Given the description of an element on the screen output the (x, y) to click on. 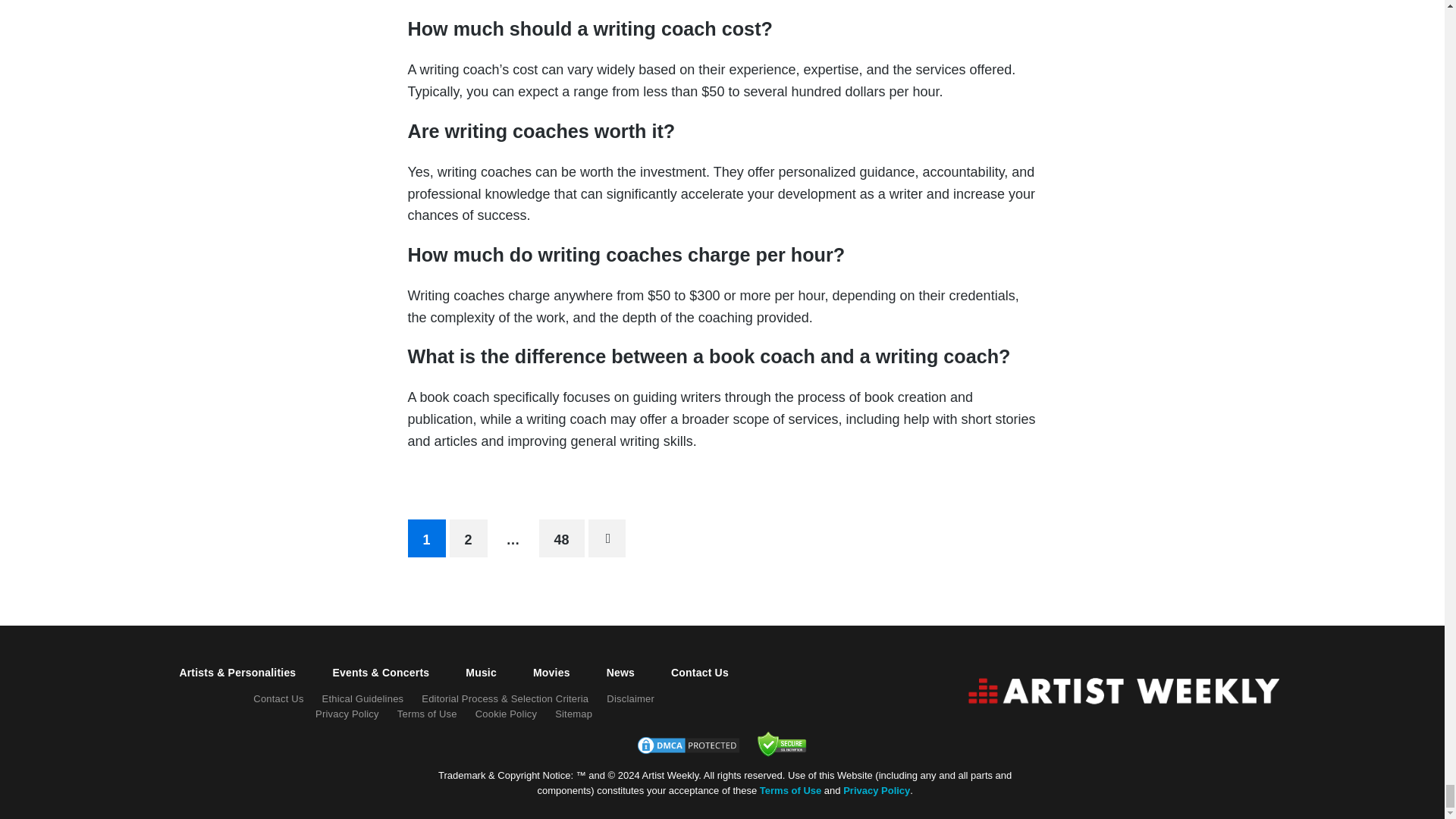
DMCA.com Protection Status (687, 751)
